Given the description of an element on the screen output the (x, y) to click on. 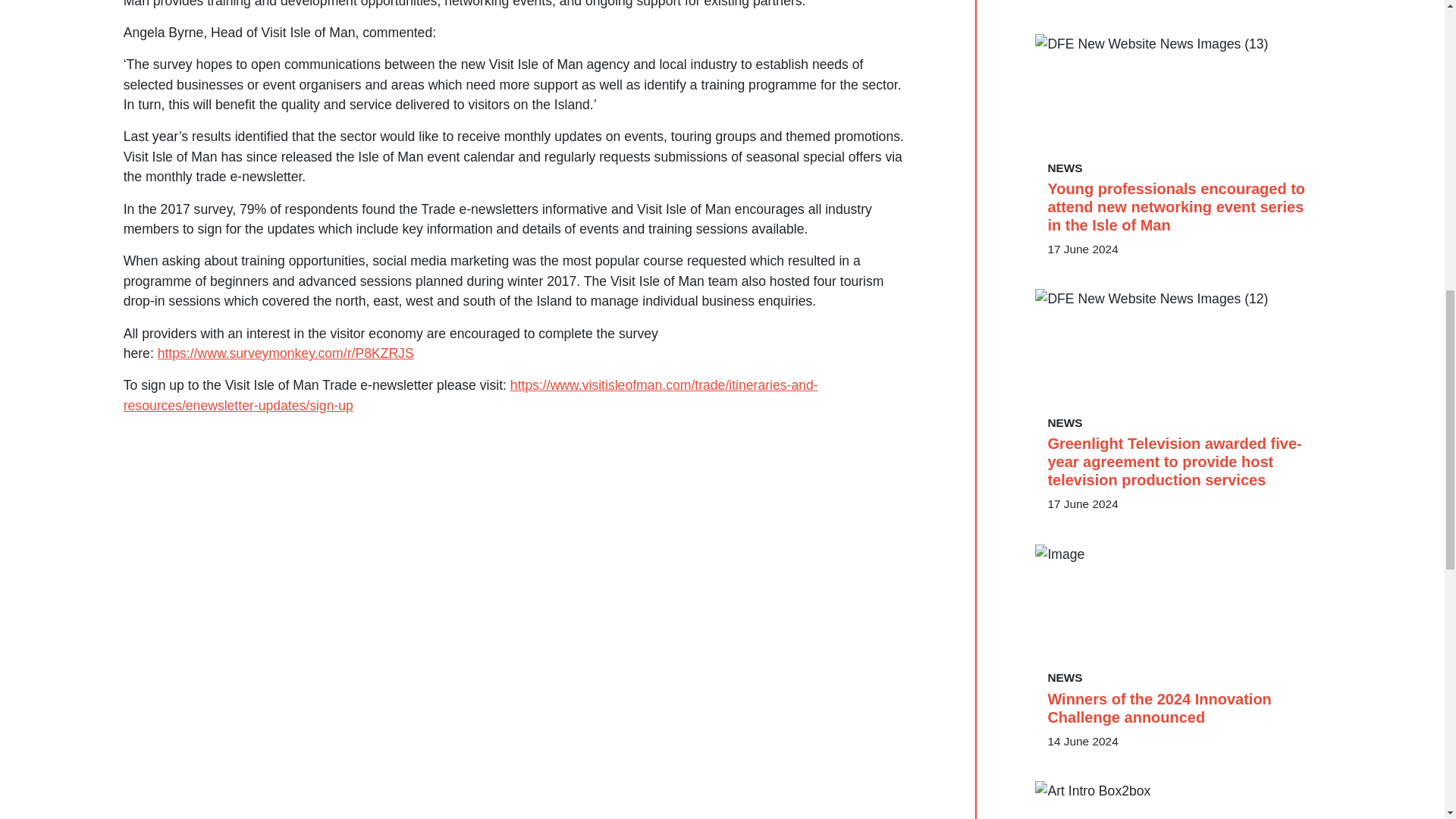
Winners of the 2024 Innovation Challenge announced (1177, 708)
